Given the description of an element on the screen output the (x, y) to click on. 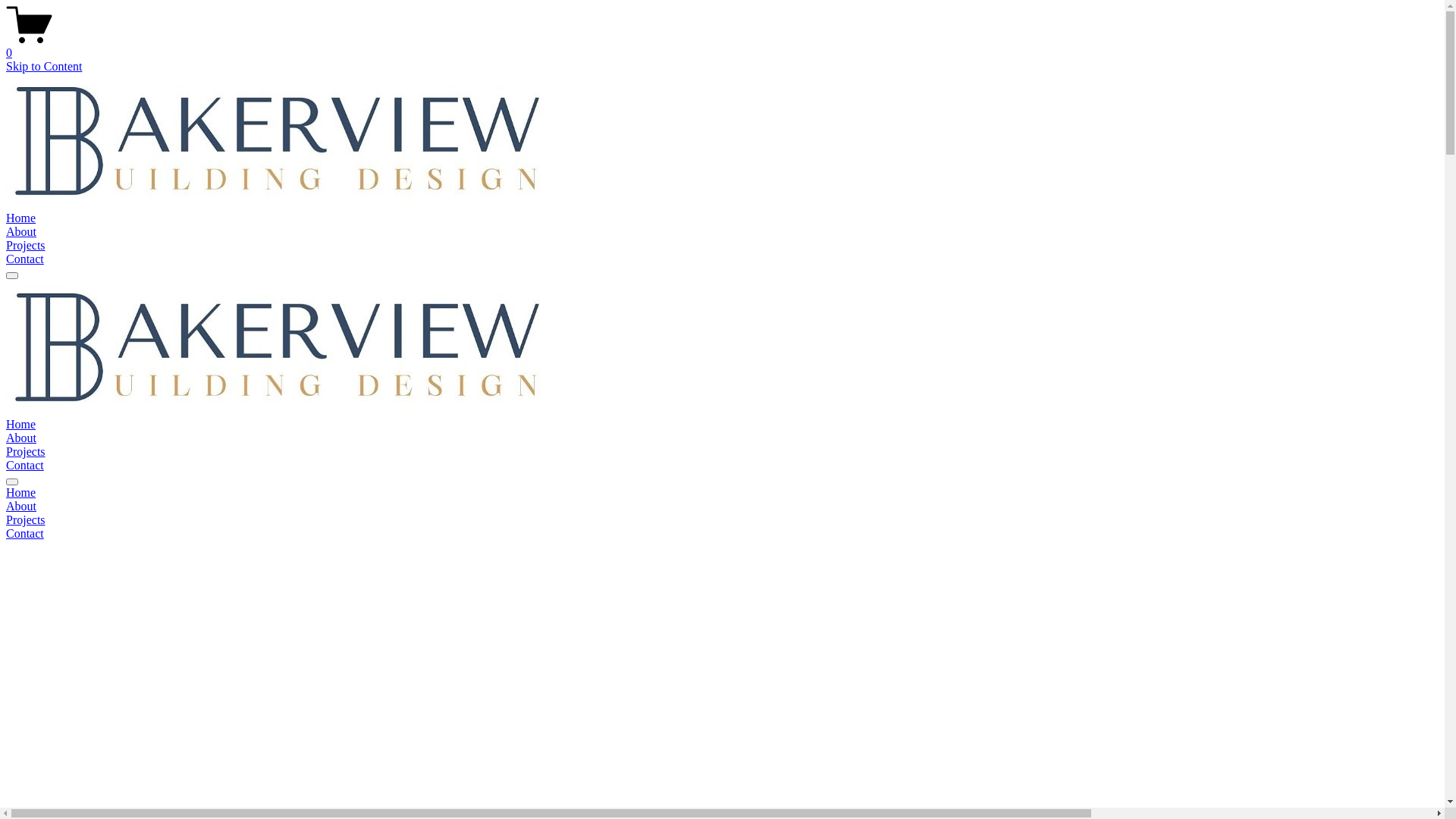
Home Element type: text (20, 217)
Contact Element type: text (722, 533)
0 Element type: text (722, 45)
About Element type: text (722, 506)
Contact Element type: text (24, 258)
Home Element type: text (20, 423)
About Element type: text (21, 437)
Skip to Content Element type: text (43, 65)
Projects Element type: text (722, 520)
Projects Element type: text (25, 451)
Home Element type: text (722, 492)
Projects Element type: text (25, 244)
Contact Element type: text (24, 464)
About Element type: text (21, 231)
